Given the description of an element on the screen output the (x, y) to click on. 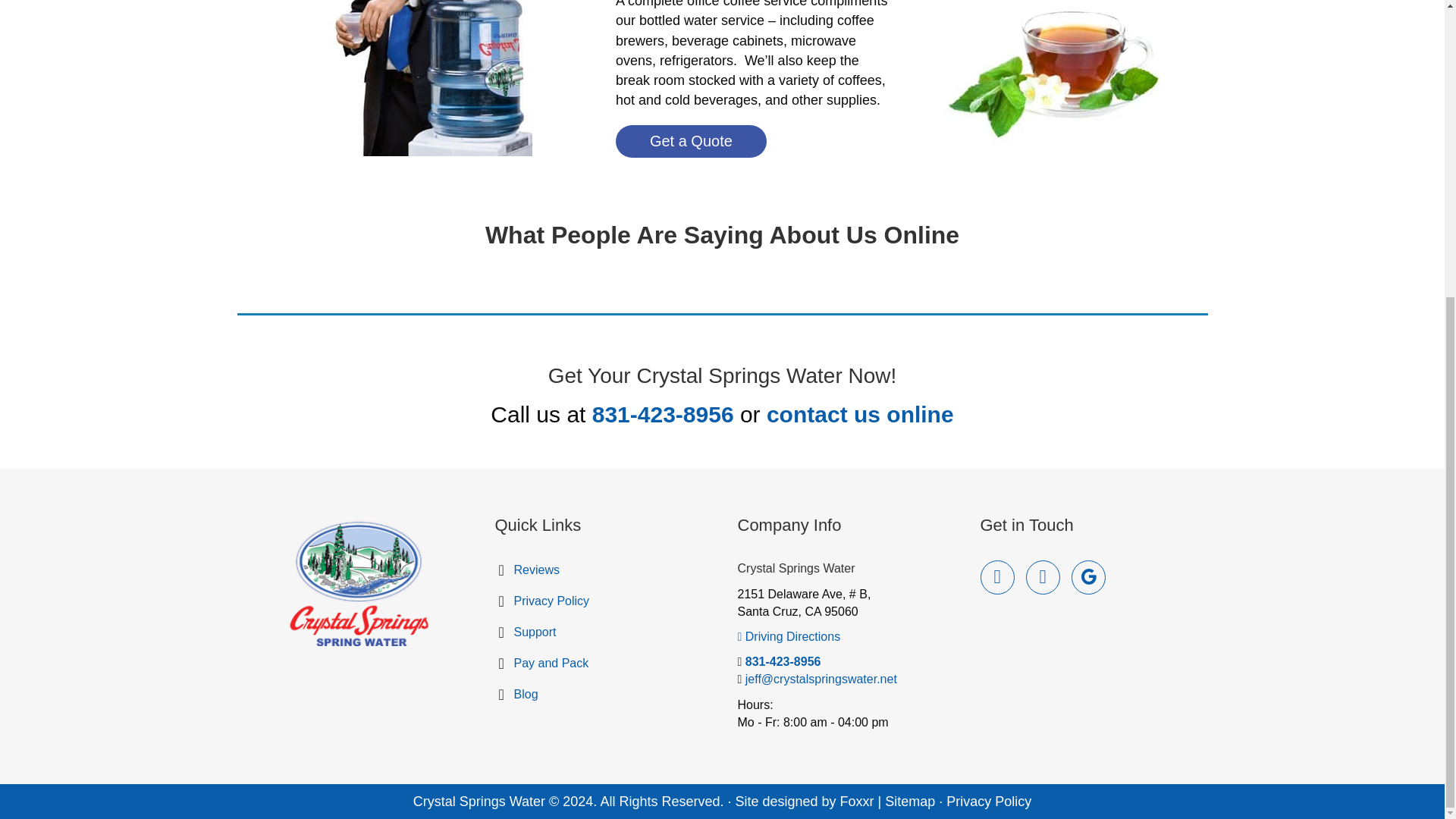
Privacy Policy (988, 801)
831-423-8956 (783, 661)
Support (604, 632)
the-logo (357, 585)
831-423-8956 (662, 414)
Sitemap (909, 801)
Reviews (604, 569)
Blog (604, 694)
Get a Quote (740, 136)
Coffee-And-Tea-Services1 (1055, 74)
Get a Quote (691, 141)
Privacy Policy (604, 601)
Driving Directions (788, 635)
Pay and Pack (604, 663)
contact us online (860, 414)
